Given the description of an element on the screen output the (x, y) to click on. 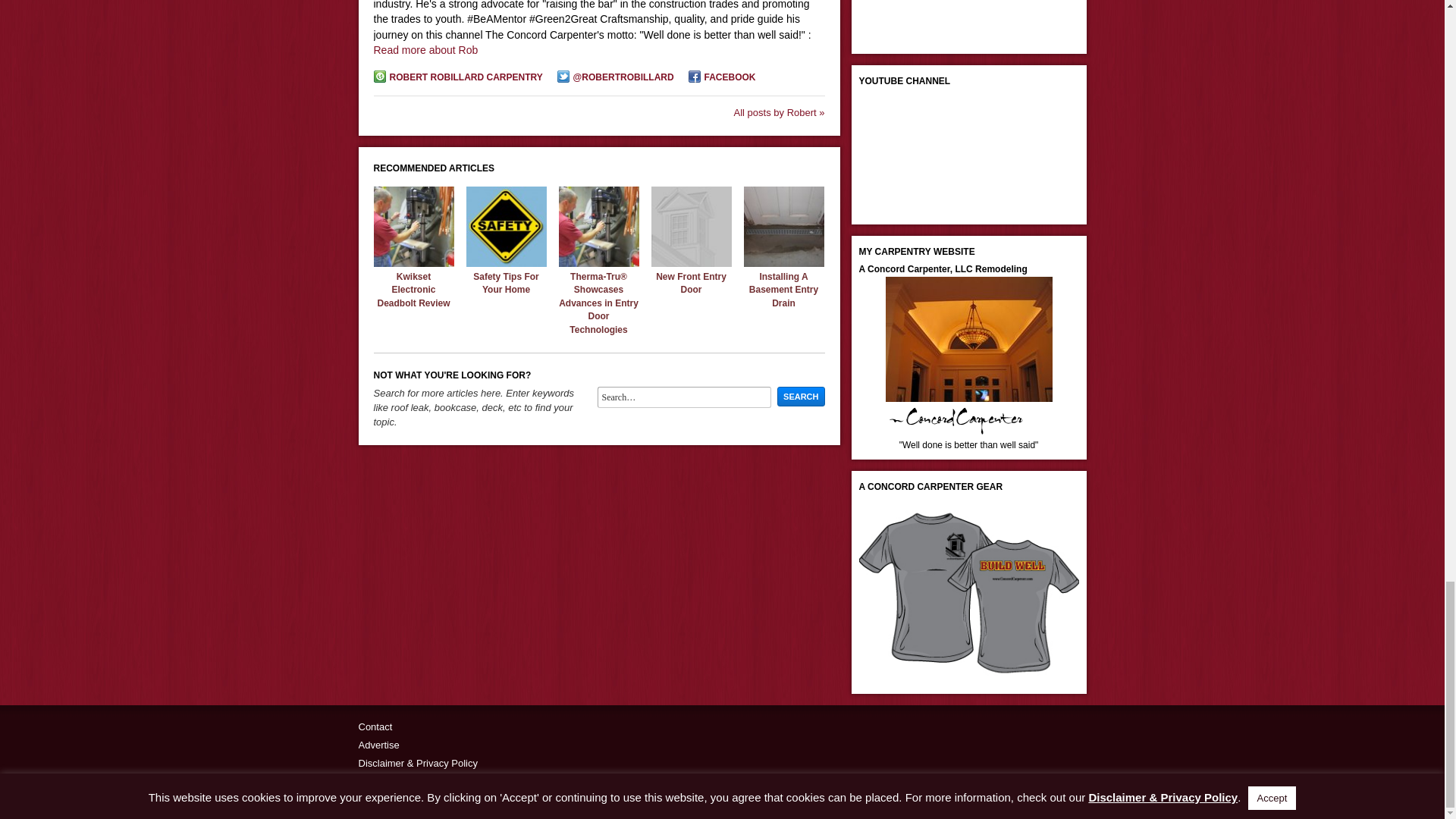
Safety Tips For Your Home (505, 263)
Search (800, 396)
Installing A Basement Entry Drain (783, 263)
ROBERT ROBILLARD CARPENTRY (456, 77)
Kwikset Electronic Deadbolt Review (413, 289)
New Front Entry Door (691, 283)
Kwikset Electronic Deadbolt Review (412, 263)
FACEBOOK (721, 77)
Safety Tips For Your Home (505, 283)
Read more about Rob (424, 50)
New Front Entry Door (690, 263)
